Given the description of an element on the screen output the (x, y) to click on. 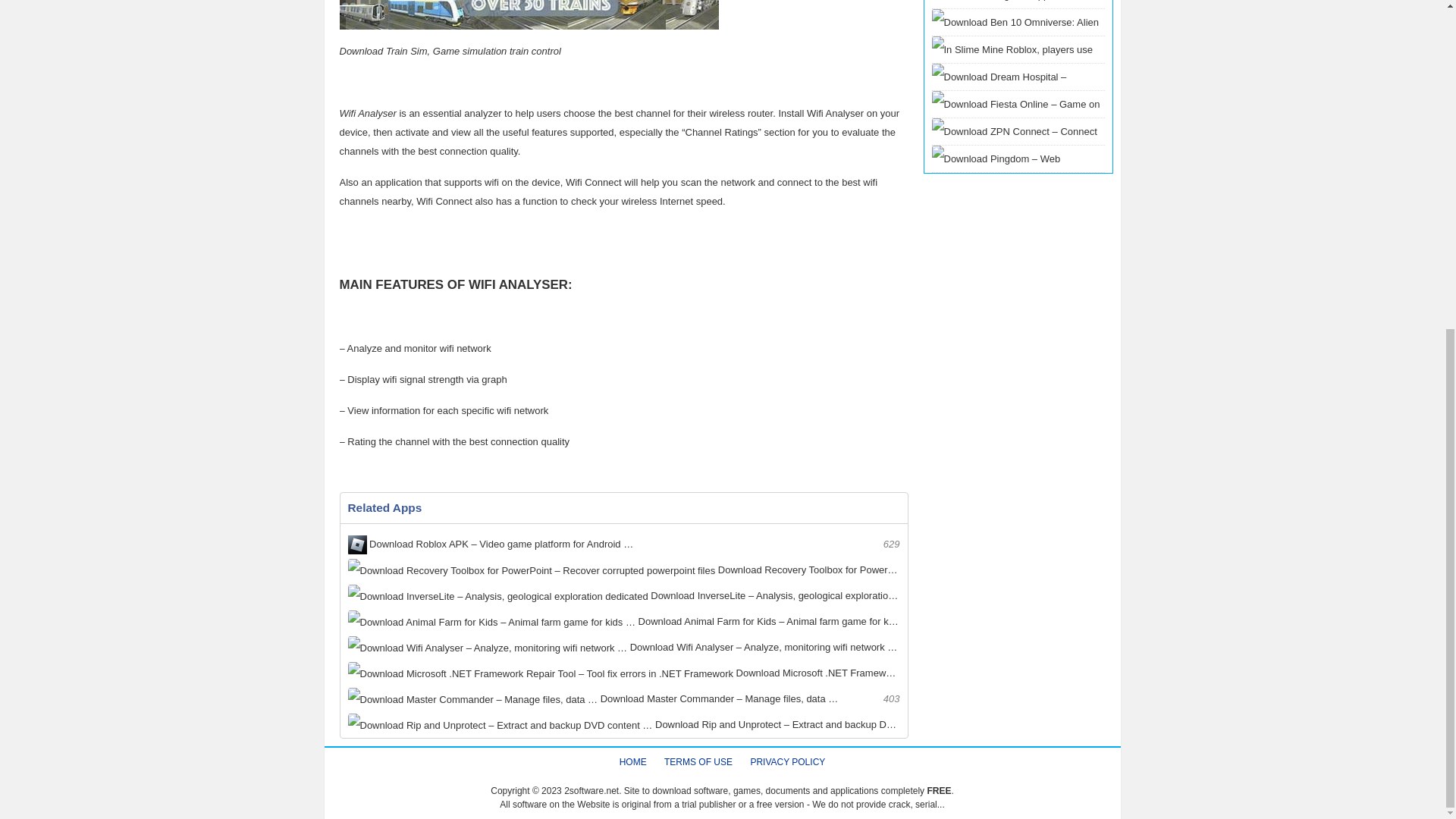
The latest Full Code... (1017, 5)
TERMS OF USE (697, 762)
Pingdom (1017, 187)
Ekiga (1017, 19)
Fiesta Online (1017, 132)
Ben 10 Omniverse:... (1017, 37)
List of latest Slime... (1017, 117)
Dream Hospital (1017, 105)
HOME (633, 762)
Comic Book Cabinet 360... (1017, 18)
ZPN Connect (1017, 146)
